Given the description of an element on the screen output the (x, y) to click on. 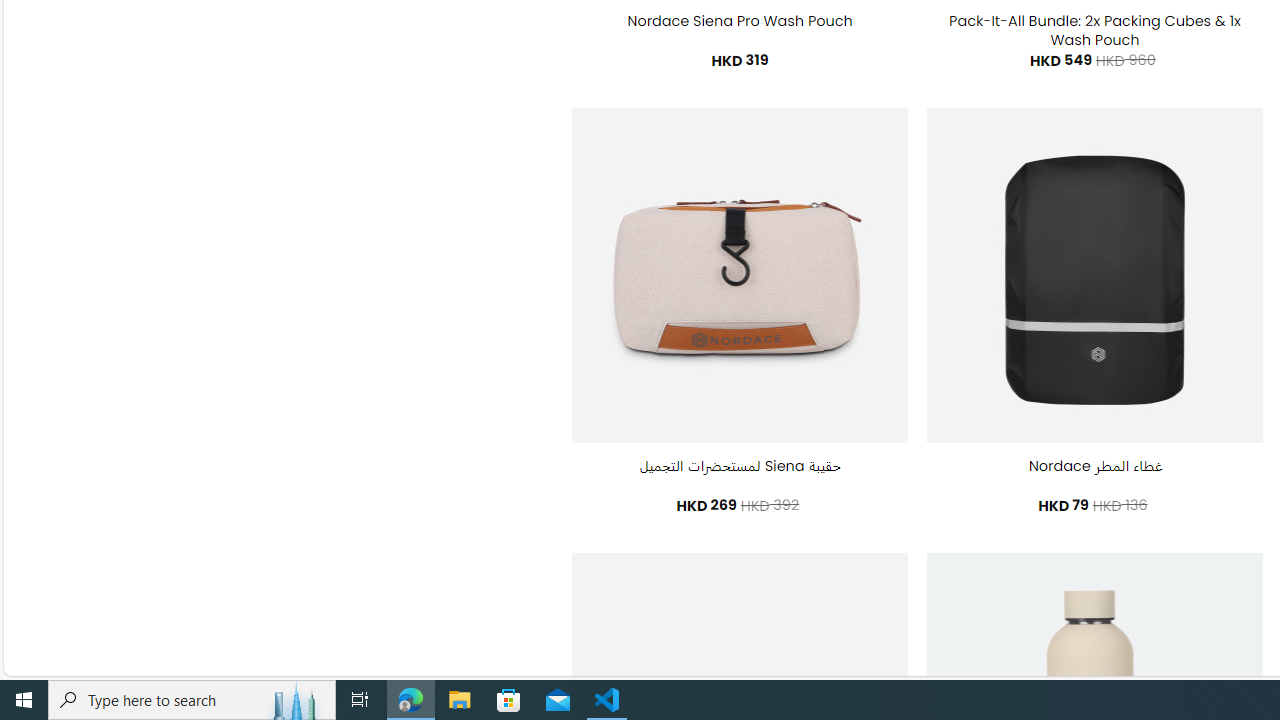
Pack-It-All Bundle: 2x Packing Cubes & 1x Wash Pouch (1094, 29)
Nordace Siena Pro Wash Pouch (739, 21)
